Given the description of an element on the screen output the (x, y) to click on. 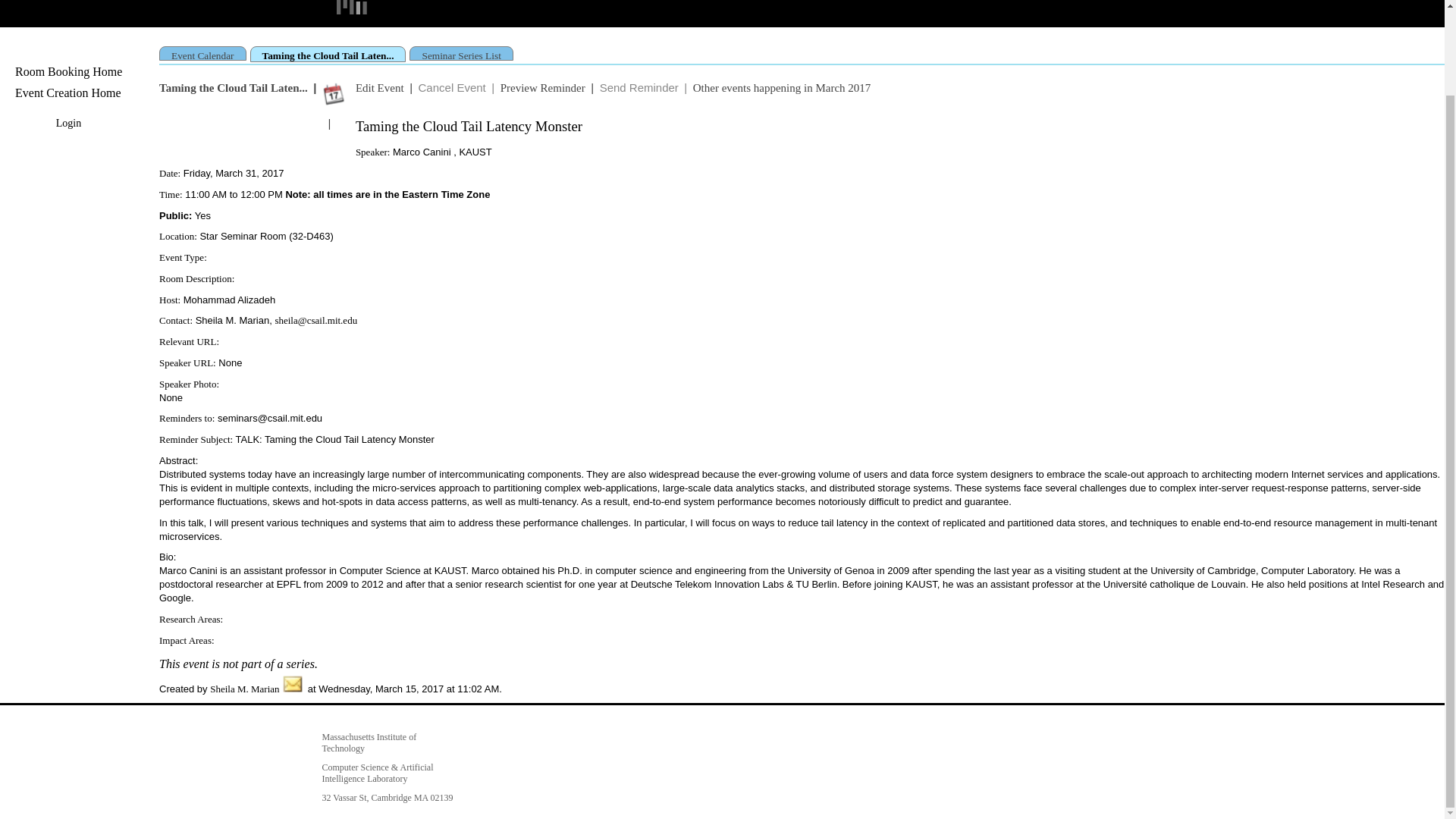
Email Sheila M. Marian (293, 688)
MIT LOGO Created with Sketch. (355, 4)
MIT LOGO Created with Sketch. (355, 7)
